Given the description of an element on the screen output the (x, y) to click on. 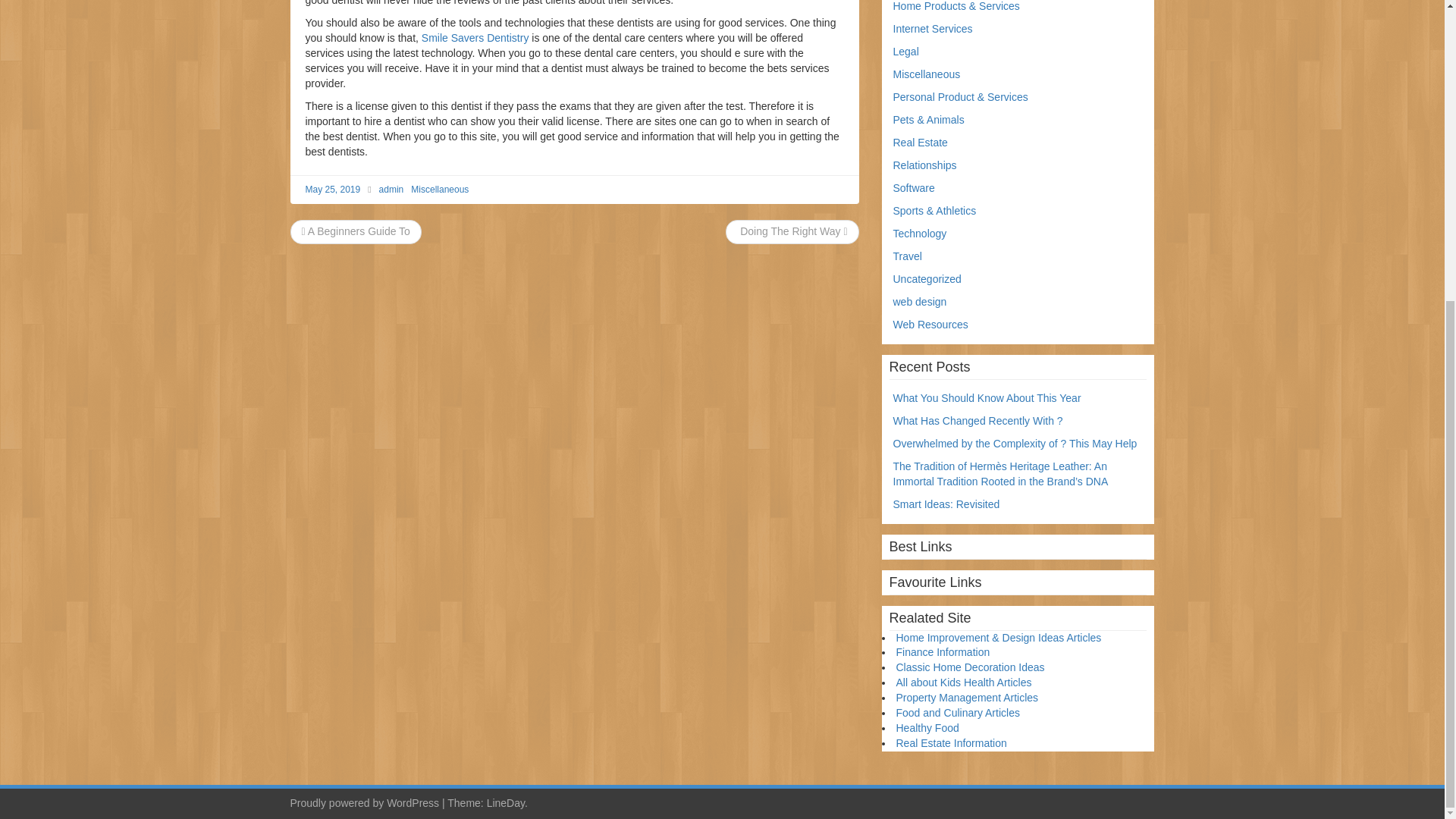
What You Should Know About This Year (987, 398)
What Has Changed Recently With ? (977, 420)
Miscellaneous (439, 189)
Relationships (924, 164)
May 25, 2019 (331, 189)
Internet Services (932, 28)
Web Resources (930, 324)
 Doing The Right Way  (791, 231)
Technology (920, 233)
web design (920, 301)
 A Beginners Guide To (355, 231)
Legal (905, 51)
Uncategorized (926, 278)
Overwhelmed by the Complexity of ? This May Help (1015, 443)
Miscellaneous (926, 73)
